Given the description of an element on the screen output the (x, y) to click on. 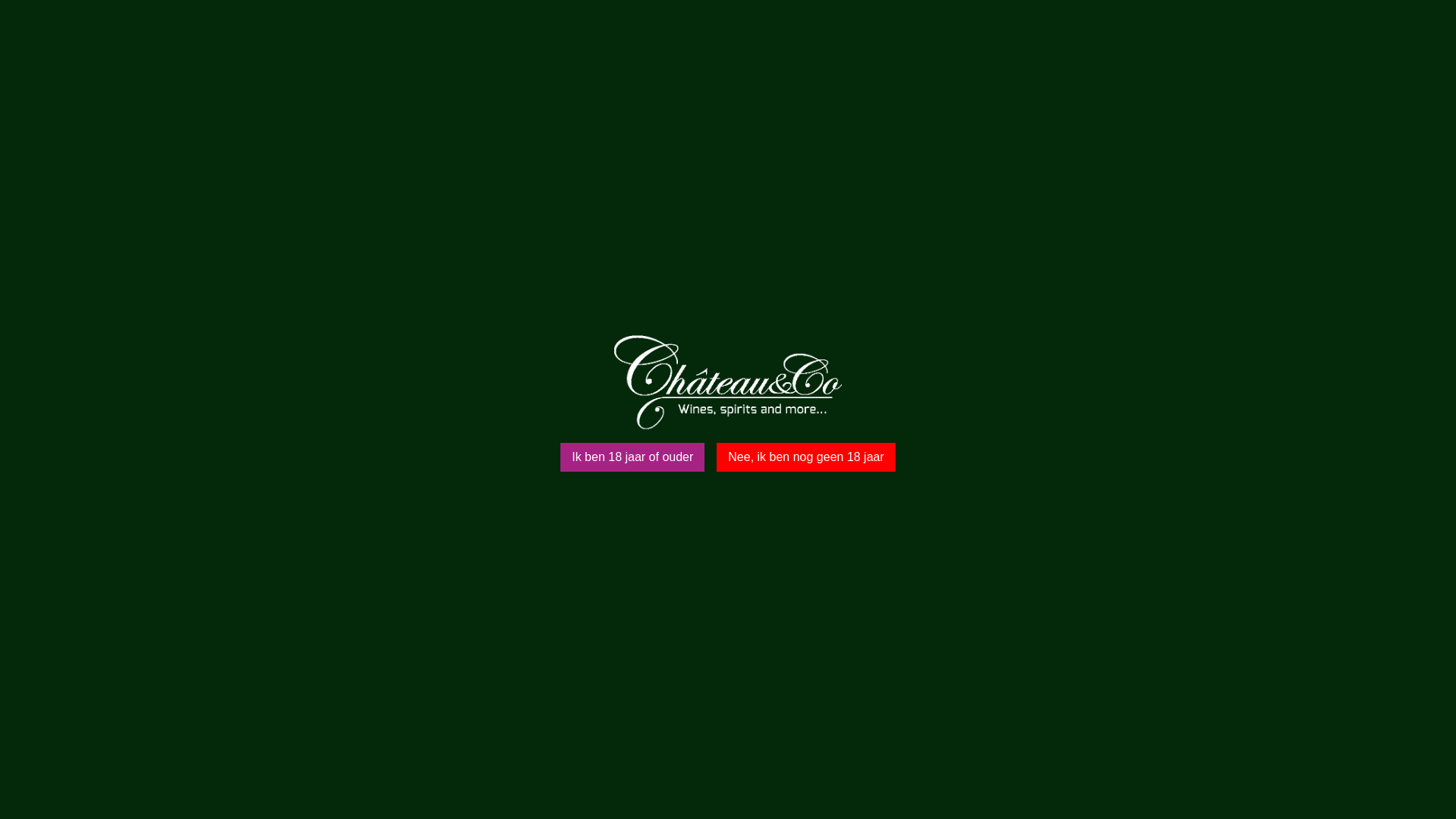
Ik ben 18 jaar of ouder Element type: text (632, 456)
Nee, ik ben nog geen 18 jaar Element type: text (805, 456)
